Given the description of an element on the screen output the (x, y) to click on. 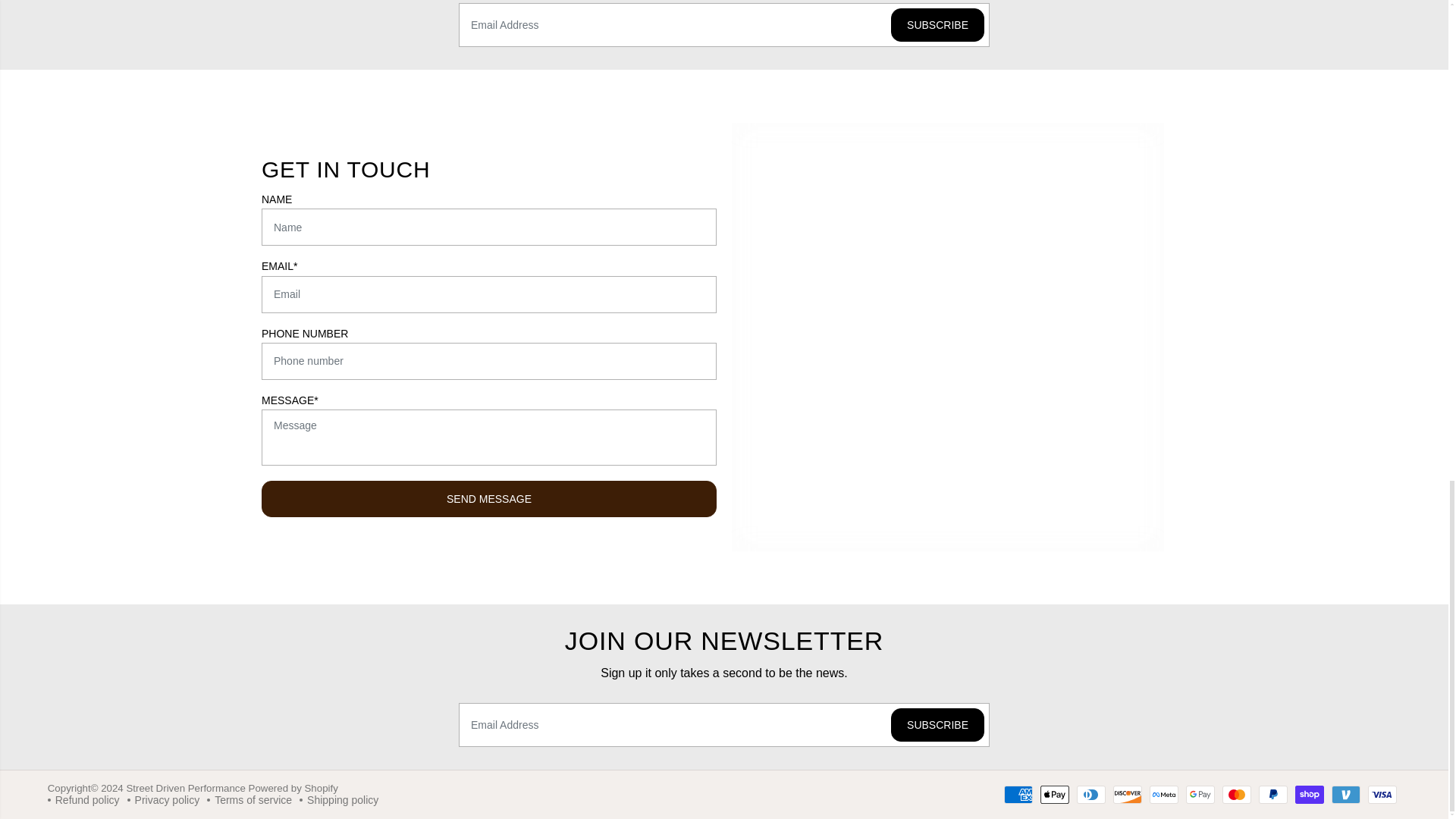
Shop Pay (1309, 794)
Mastercard (1236, 794)
Google Pay (1200, 794)
Meta Pay (1163, 794)
Apple Pay (1054, 794)
Discover (1127, 794)
American Express (1018, 794)
PayPal (1273, 794)
Diners Club (1091, 794)
